Given the description of an element on the screen output the (x, y) to click on. 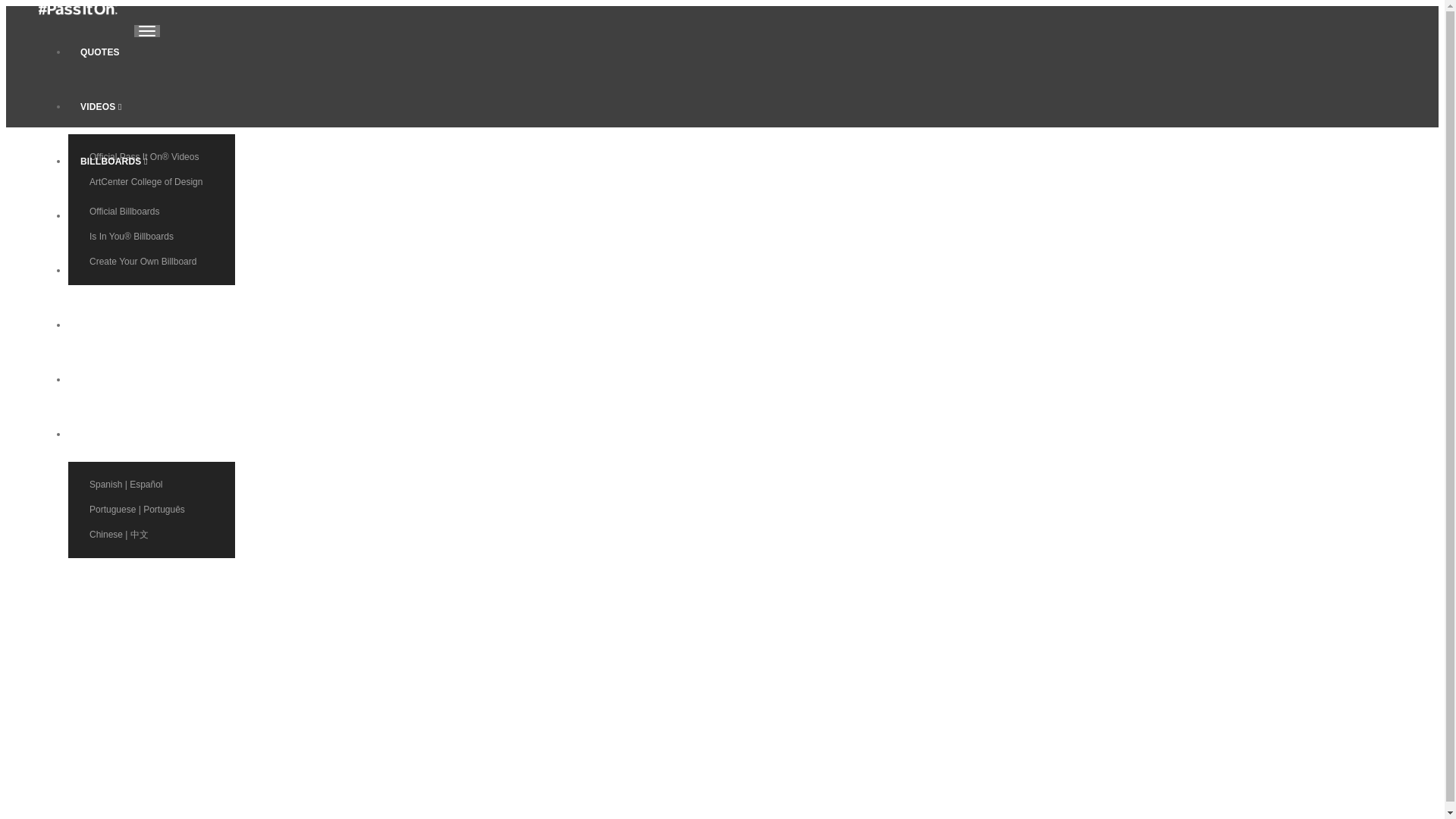
QUOTES (114, 52)
BLOG (114, 379)
BILLBOARDS (114, 161)
RADIO (114, 325)
toggle navigation (146, 30)
NEWSPAPERS (114, 216)
VIDEOS (114, 106)
PODCAST (114, 270)
Official Billboards (151, 211)
ArtCenter College of Design PSAs (151, 187)
